Given the description of an element on the screen output the (x, y) to click on. 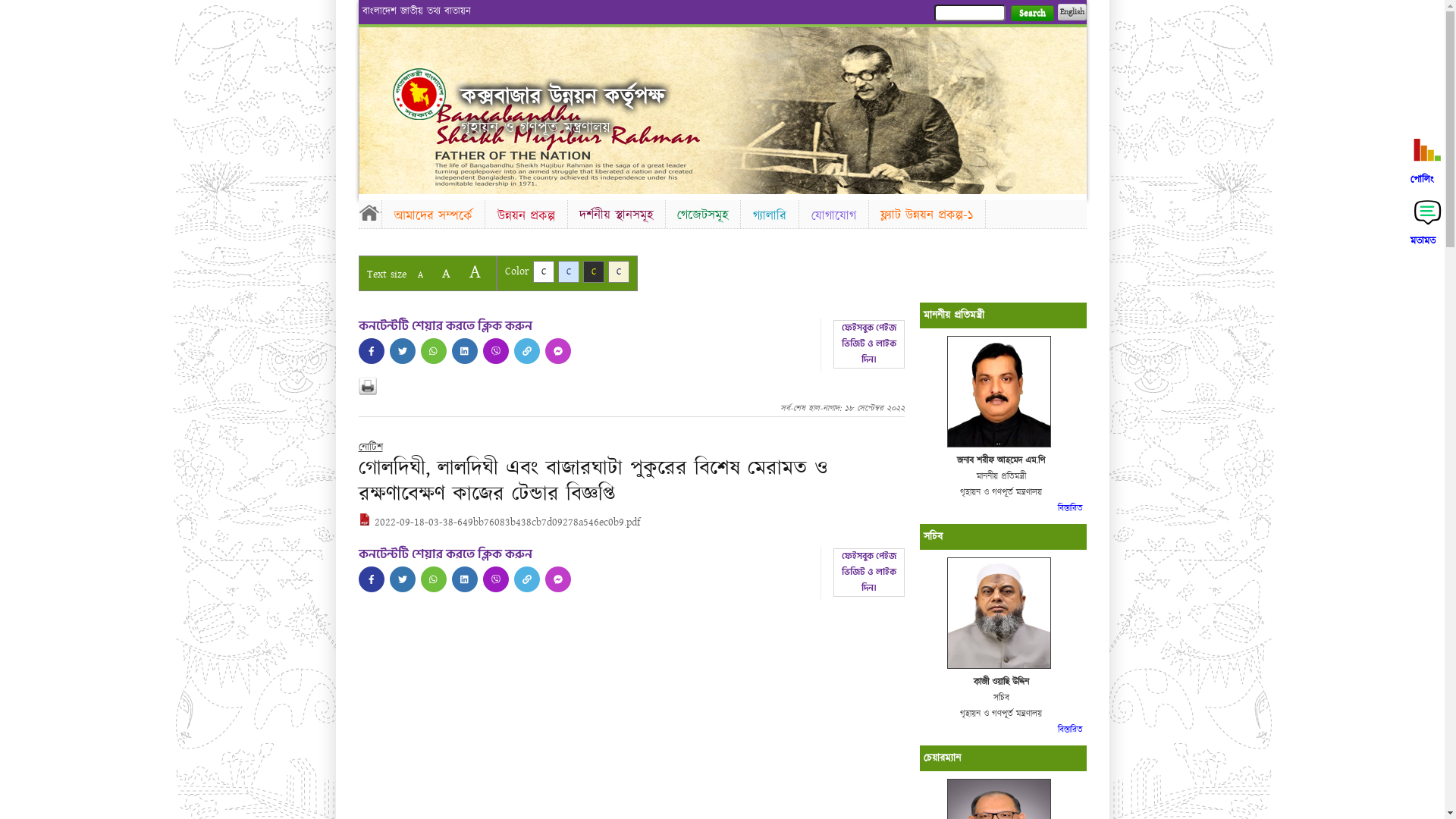
2022-09-18-03-38-649bb76083b438cb7d09278a546ec0b9.pdf Element type: text (498, 522)
Home Element type: hover (368, 211)
A Element type: text (445, 273)
C Element type: text (618, 271)
Home Element type: hover (418, 93)
A Element type: text (474, 271)
English Element type: text (1071, 11)
C Element type: text (542, 271)
C Element type: text (592, 271)
Search Element type: text (1031, 13)
A Element type: text (419, 274)
C Element type: text (568, 271)
